Given the description of an element on the screen output the (x, y) to click on. 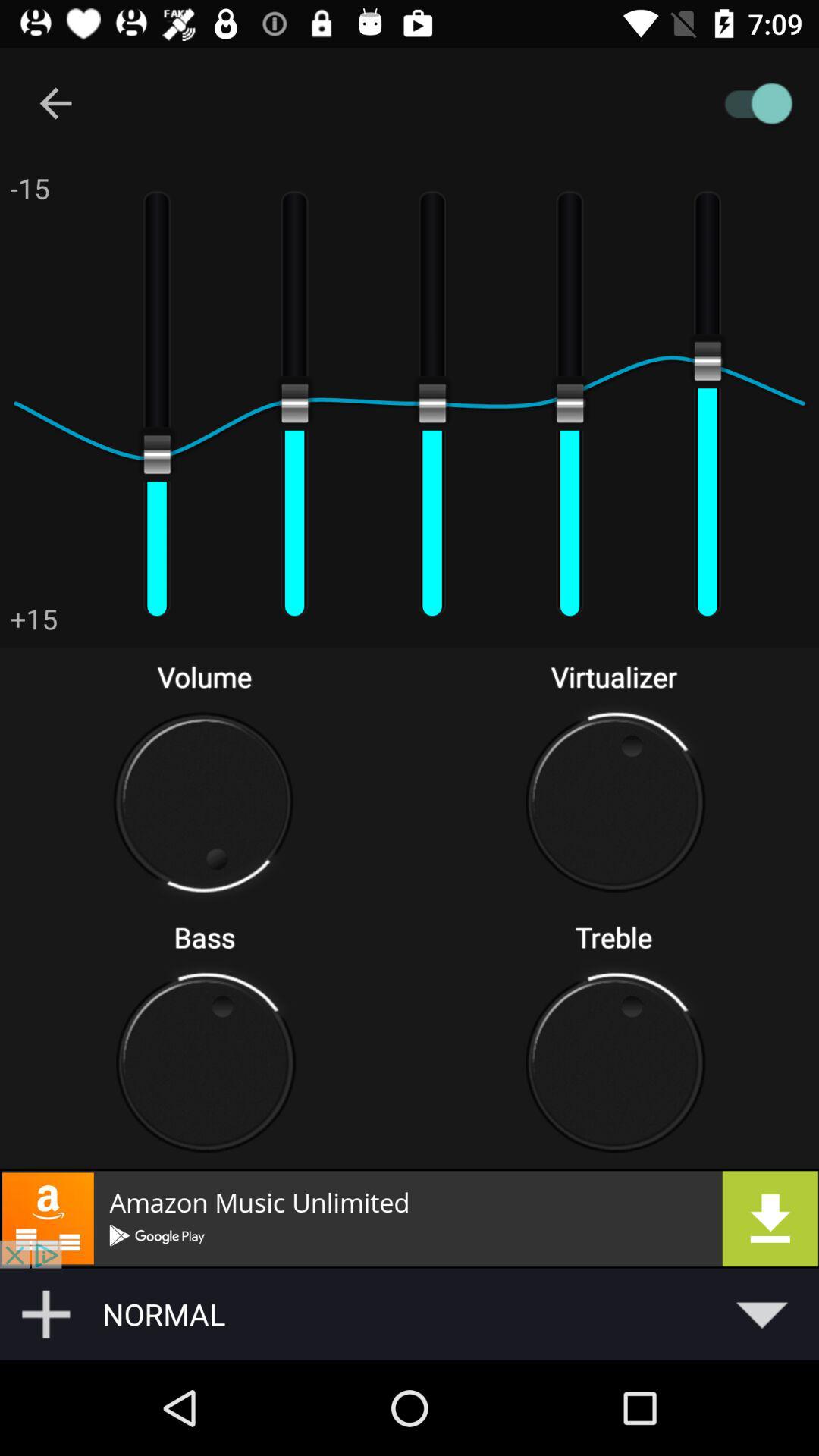
download app (409, 1218)
